Given the description of an element on the screen output the (x, y) to click on. 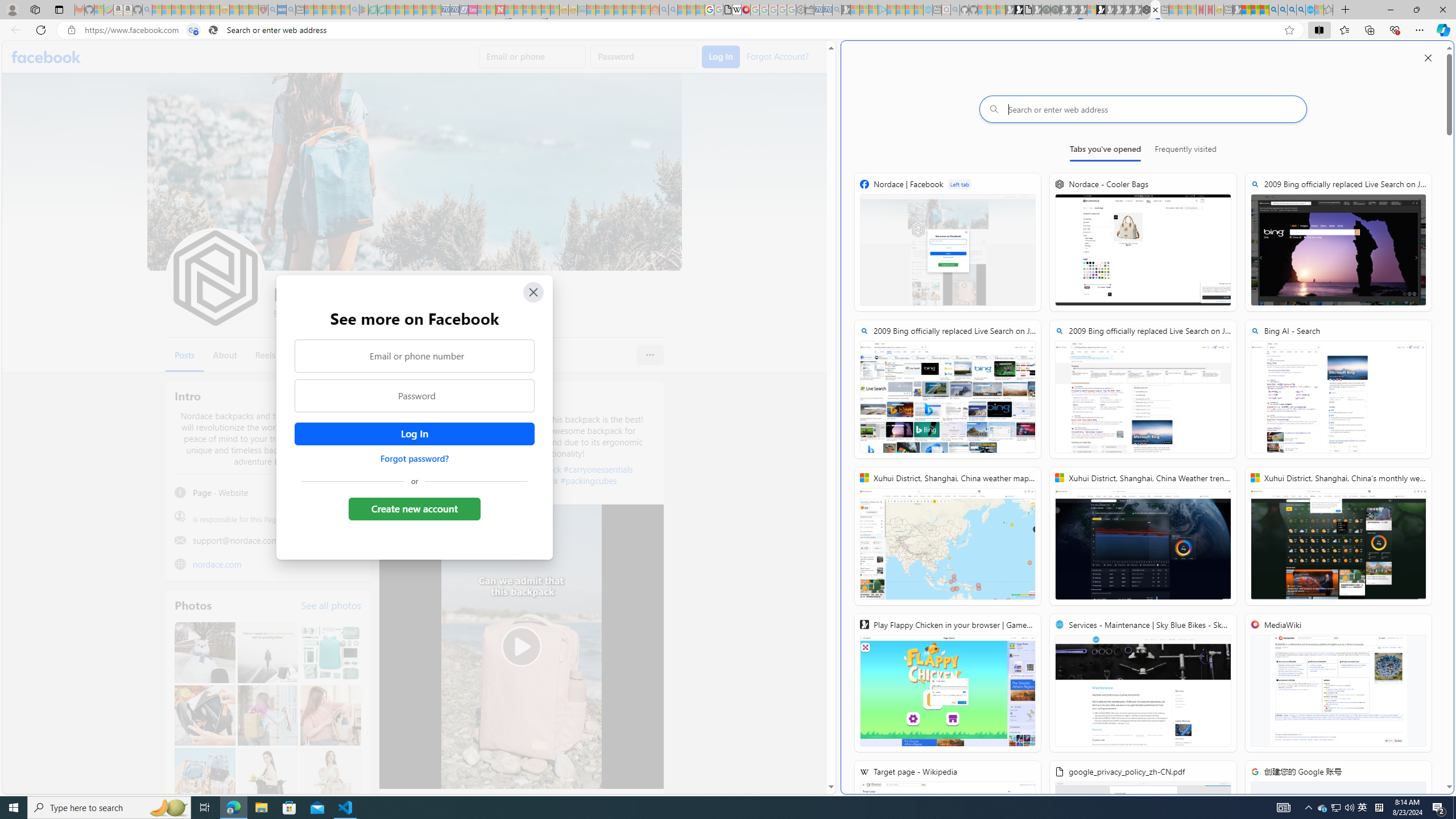
Bing AI - Search (1337, 389)
MediaWiki (1337, 682)
